Given the description of an element on the screen output the (x, y) to click on. 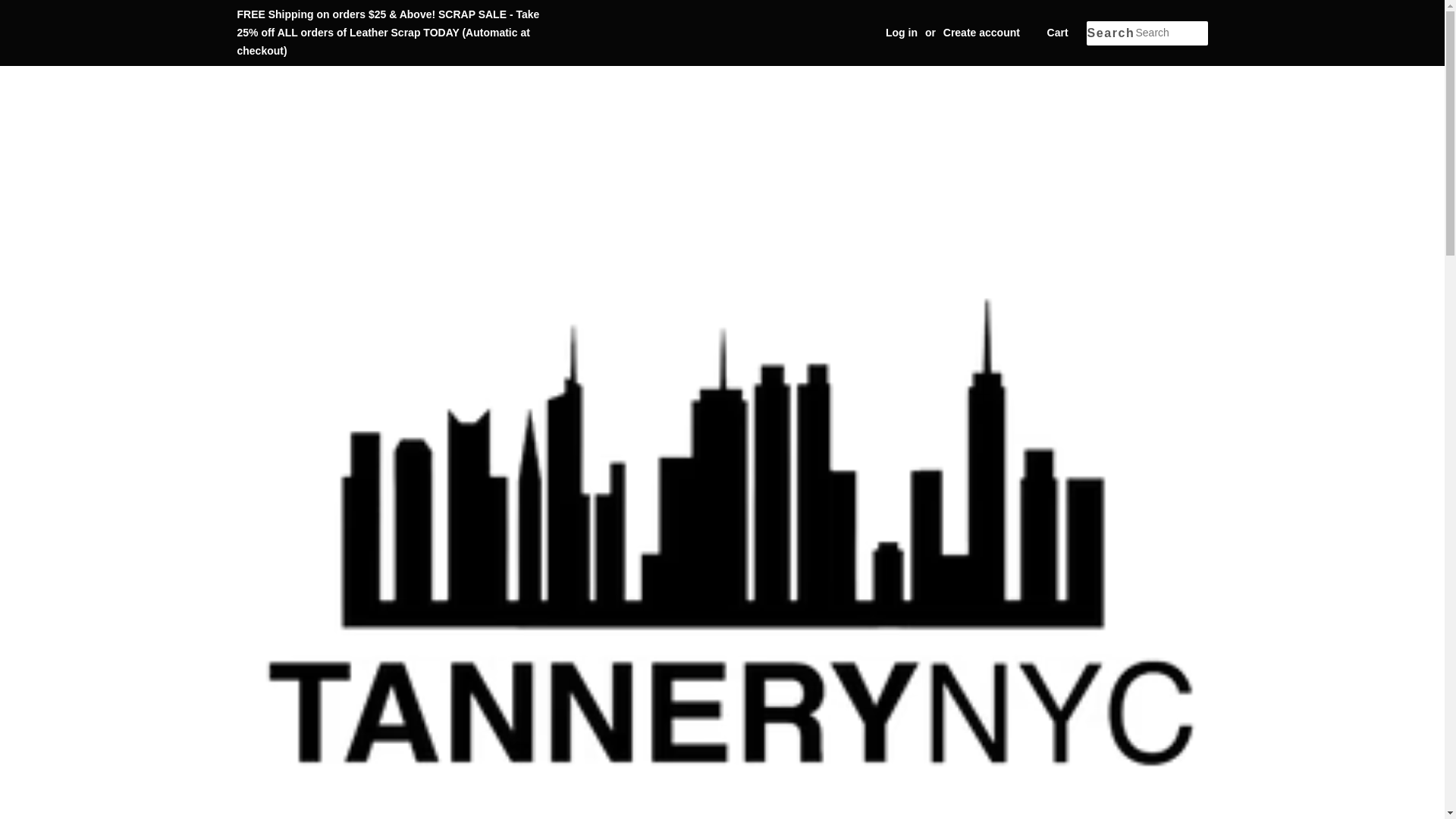
Create account (981, 32)
Log in (901, 32)
Search (1110, 33)
Cart (1057, 33)
